Given the description of an element on the screen output the (x, y) to click on. 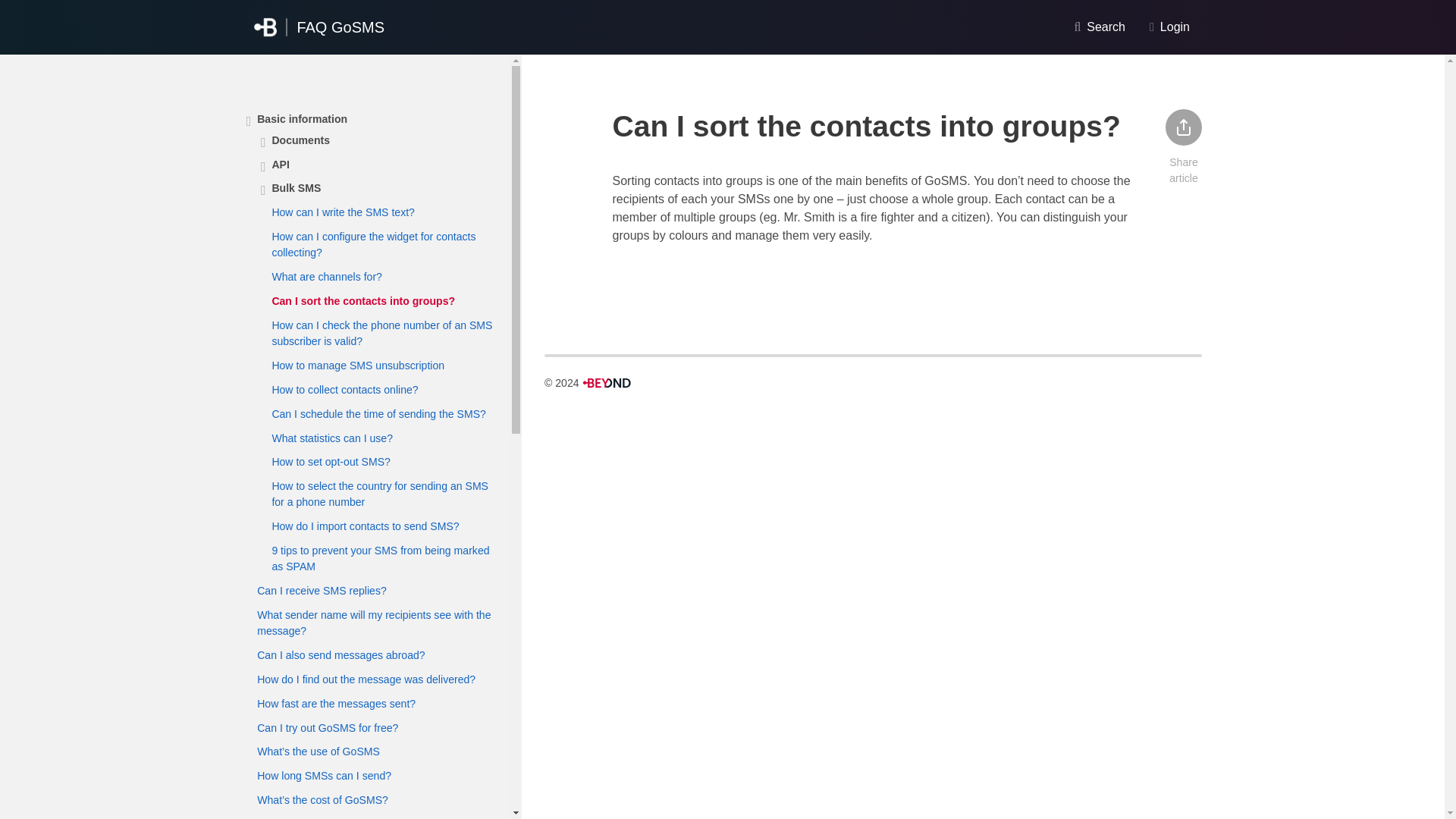
Documents (300, 139)
Login (1169, 27)
How to manage SMS unsubscription (357, 365)
How can I configure the widget for contacts collecting? (384, 244)
Can I sort the contacts into groups? (362, 301)
Bulk SMS (295, 188)
Search (1099, 27)
Search (1184, 89)
Basic information (302, 118)
How can I write the SMS text? (342, 212)
Basic information (302, 118)
Documents (300, 139)
What are channels for? (325, 276)
FAQ GoSMS (318, 26)
